Given the description of an element on the screen output the (x, y) to click on. 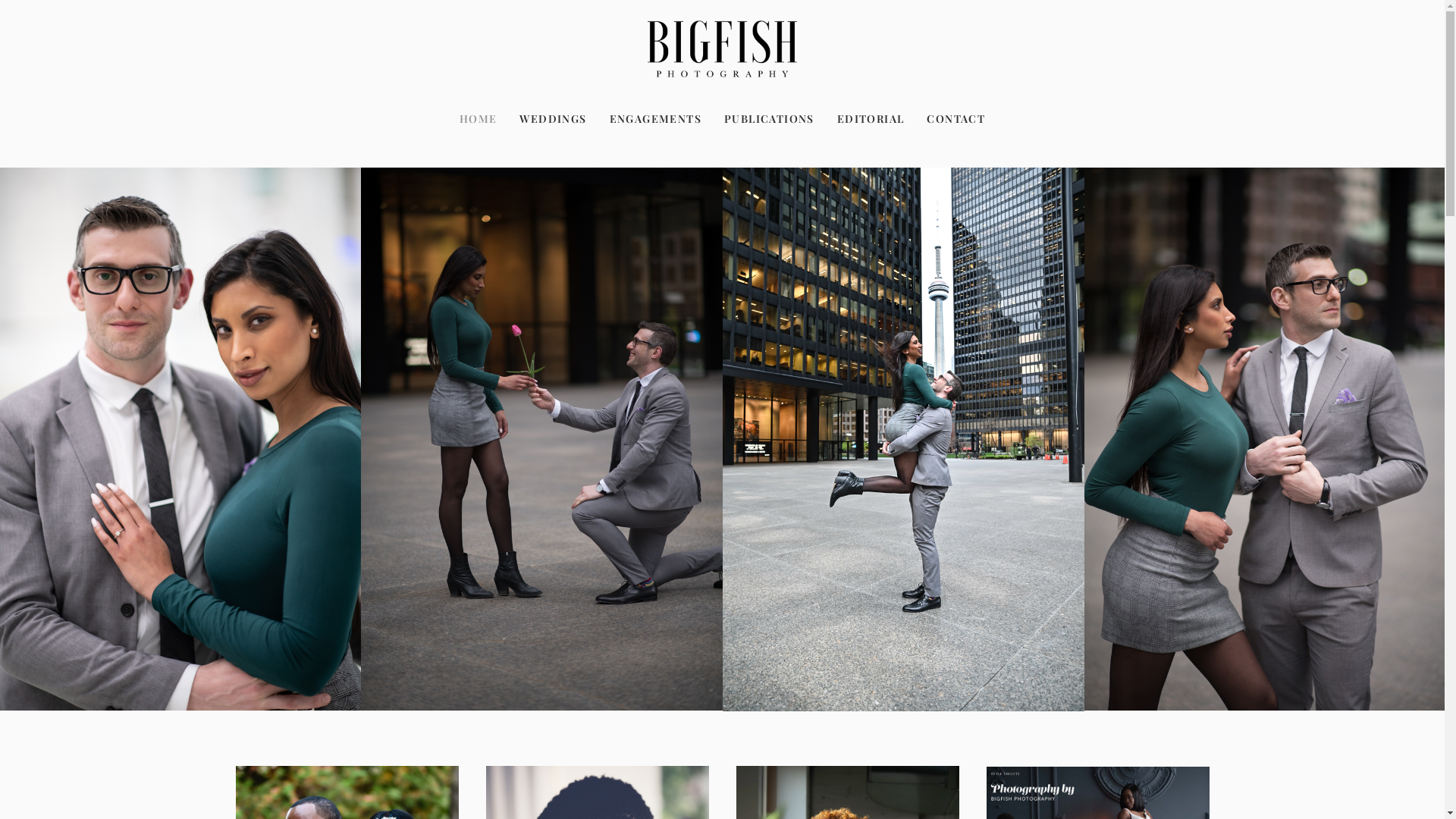
WEDDINGS Element type: text (552, 118)
CONTACT Element type: text (950, 118)
EDITORIAL Element type: text (870, 118)
ENGAGEMENTS Element type: text (655, 118)
HOME Element type: text (483, 118)
PUBLICATIONS Element type: text (769, 118)
